Given the description of an element on the screen output the (x, y) to click on. 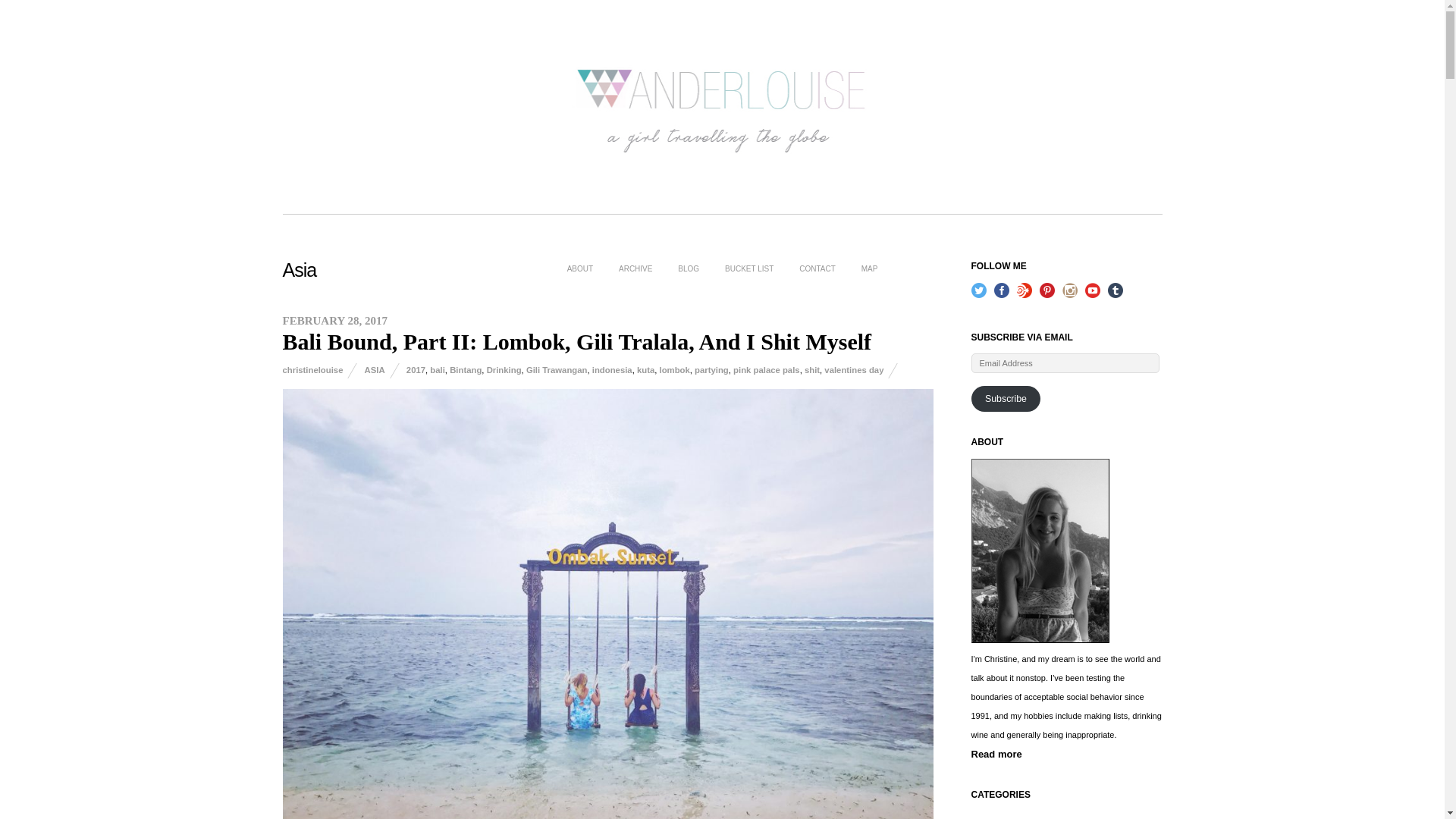
CONTACT (817, 268)
Gili Trawangan (556, 369)
Drinking (503, 369)
indonesia (611, 369)
Wanderlouise (721, 148)
Bali Bound, Part II: Lombok, Gili Tralala, And I Shit Myself (576, 341)
ABOUT (580, 268)
Bali Bound, Part II: Lombok, Gili Tralala, And I Shit Myself (576, 341)
christinelouise (312, 369)
bali (437, 369)
